Given the description of an element on the screen output the (x, y) to click on. 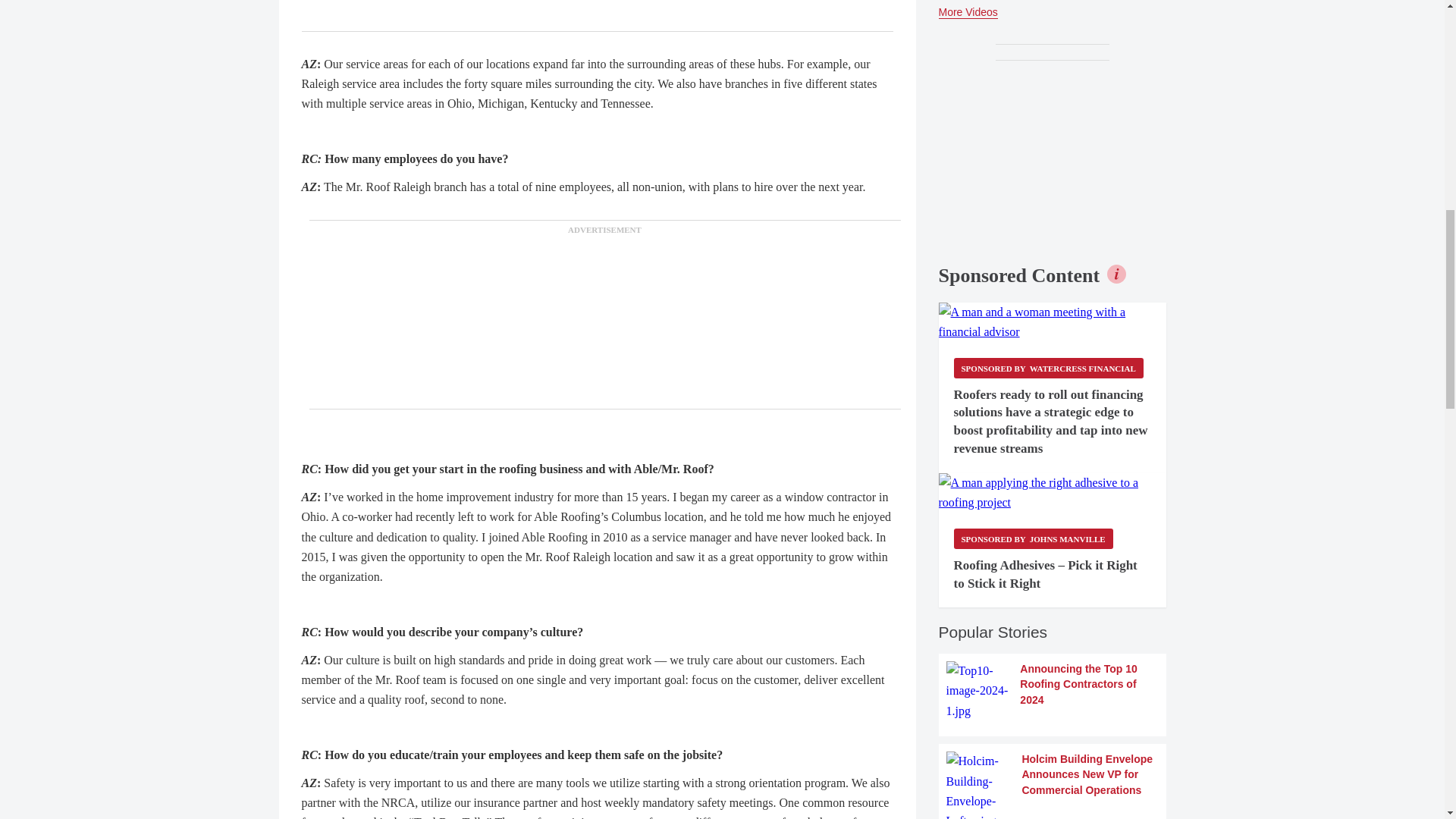
Announcing the Top 10 Roofing Contractors of 2024 (1052, 690)
Sponsored by Johns Manville (1033, 538)
Sponsored by Watercress Financial (1047, 367)
